Given the description of an element on the screen output the (x, y) to click on. 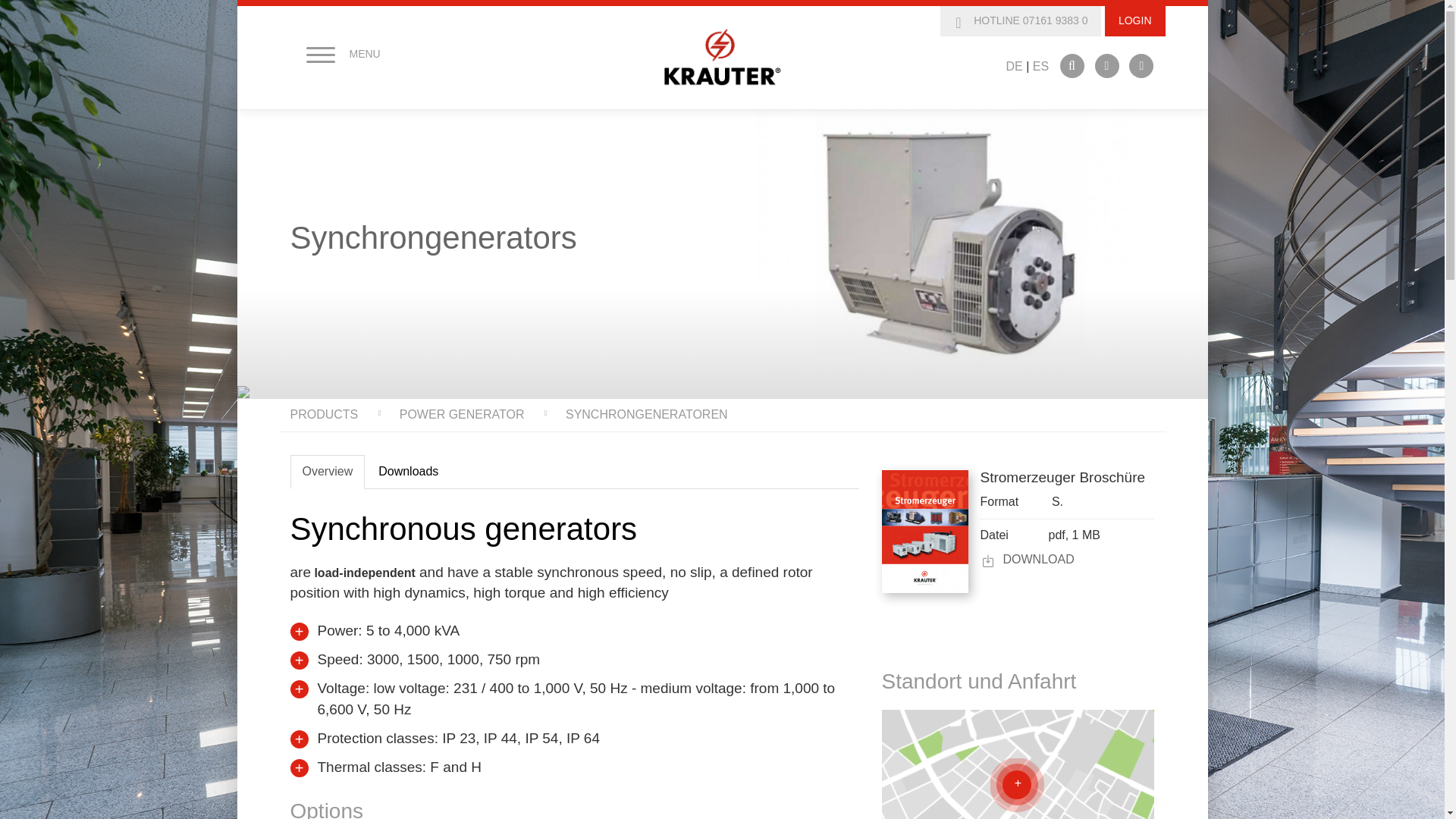
ES (1040, 67)
DE (1014, 67)
MENU (331, 55)
Log in (793, 59)
